Given the description of an element on the screen output the (x, y) to click on. 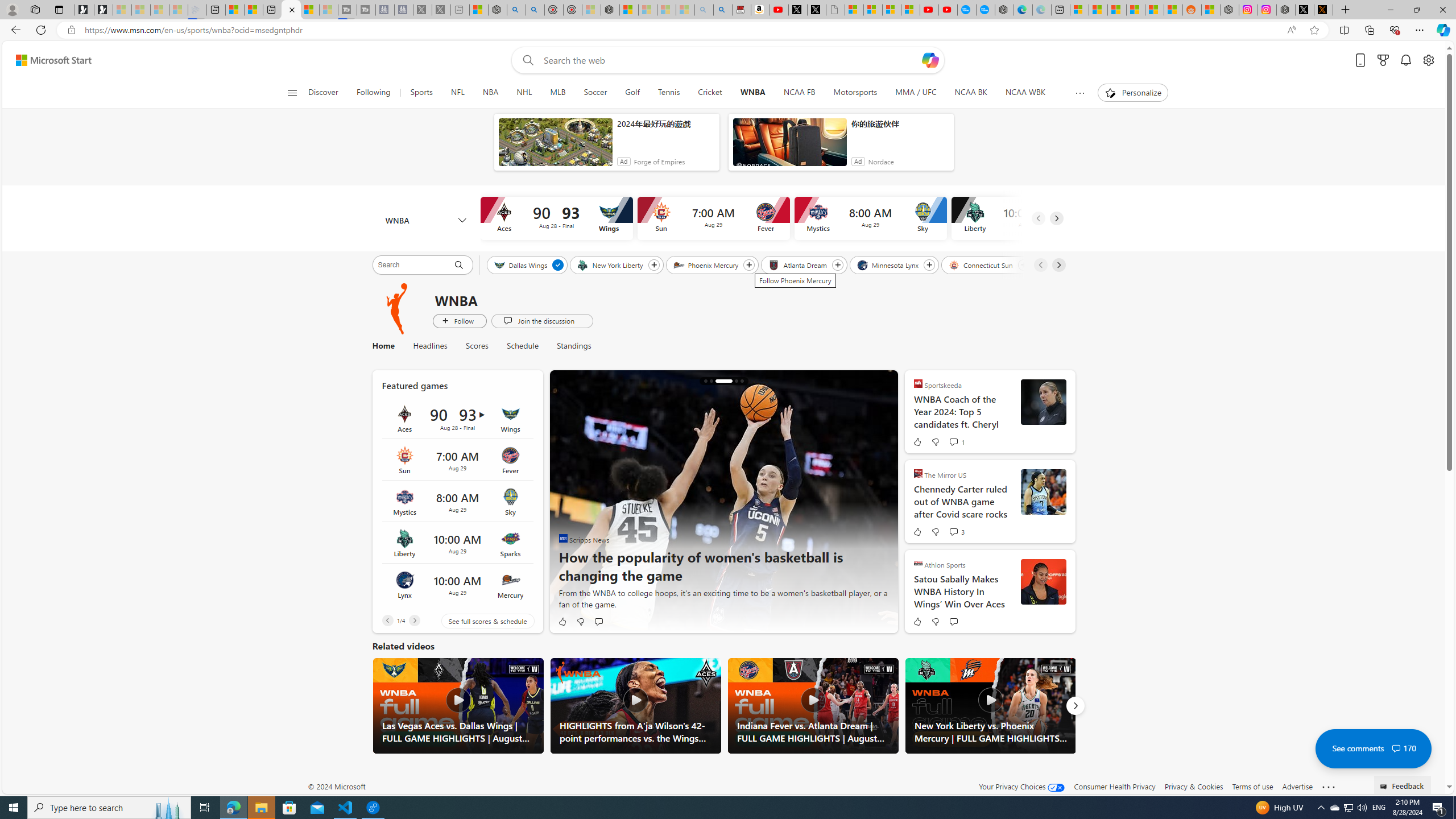
Open navigation menu (292, 92)
NBA (490, 92)
Home (382, 345)
Nordace (@NordaceOfficial) / X (1304, 9)
Scores (476, 345)
Phoenix Mercury (705, 264)
Motorsports (854, 92)
NCAA WBK (1024, 92)
anim-content (789, 146)
Liberty vs Sparks Time 10:00 AM Date Aug 29 (456, 543)
